Given the description of an element on the screen output the (x, y) to click on. 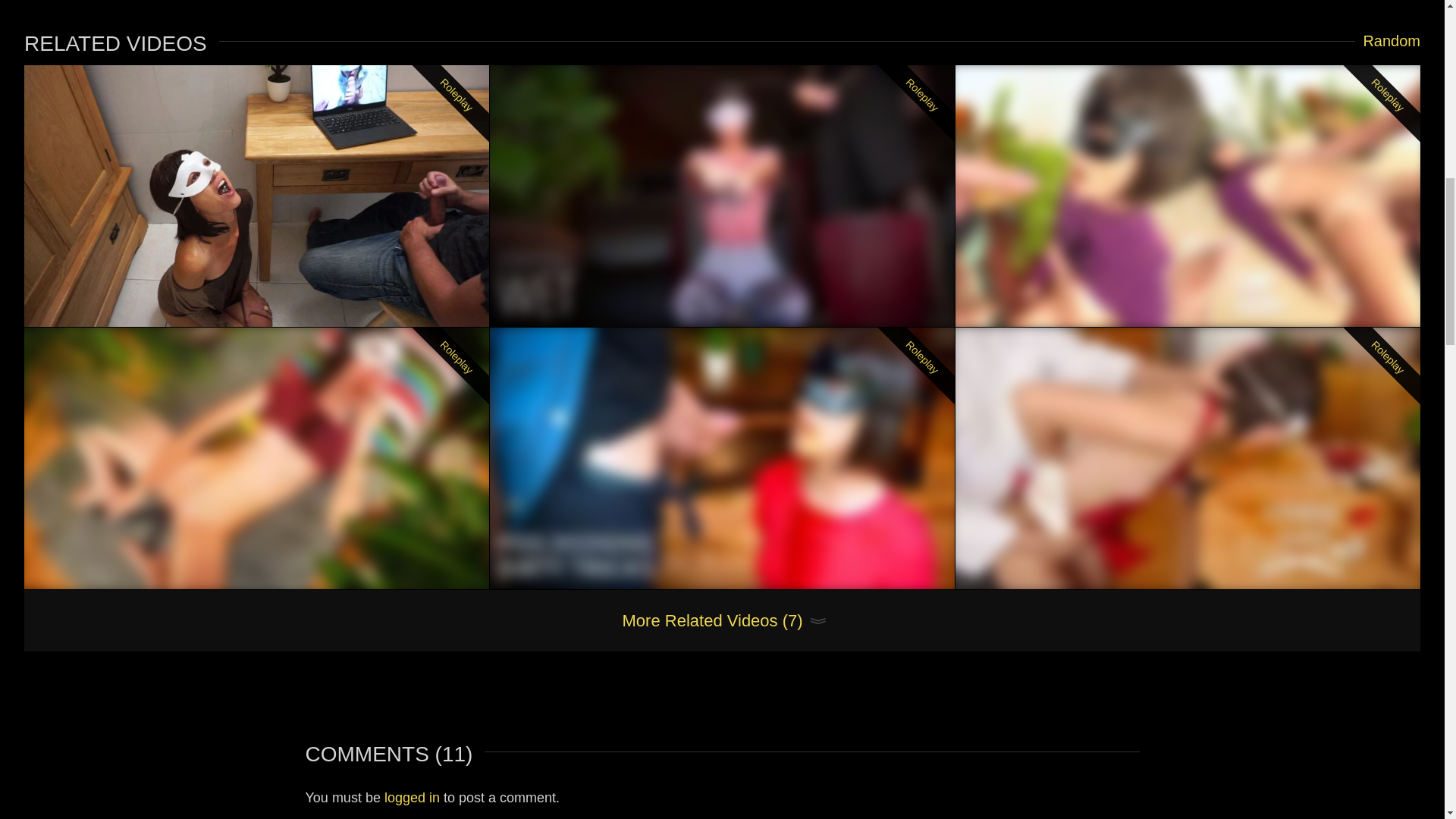
Roleplay (722, 457)
Random (1388, 40)
Roleplay (256, 195)
Roleplay (256, 457)
Roleplay (1188, 457)
Roleplay (722, 195)
logged in (411, 797)
Roleplay (1188, 195)
